Given the description of an element on the screen output the (x, y) to click on. 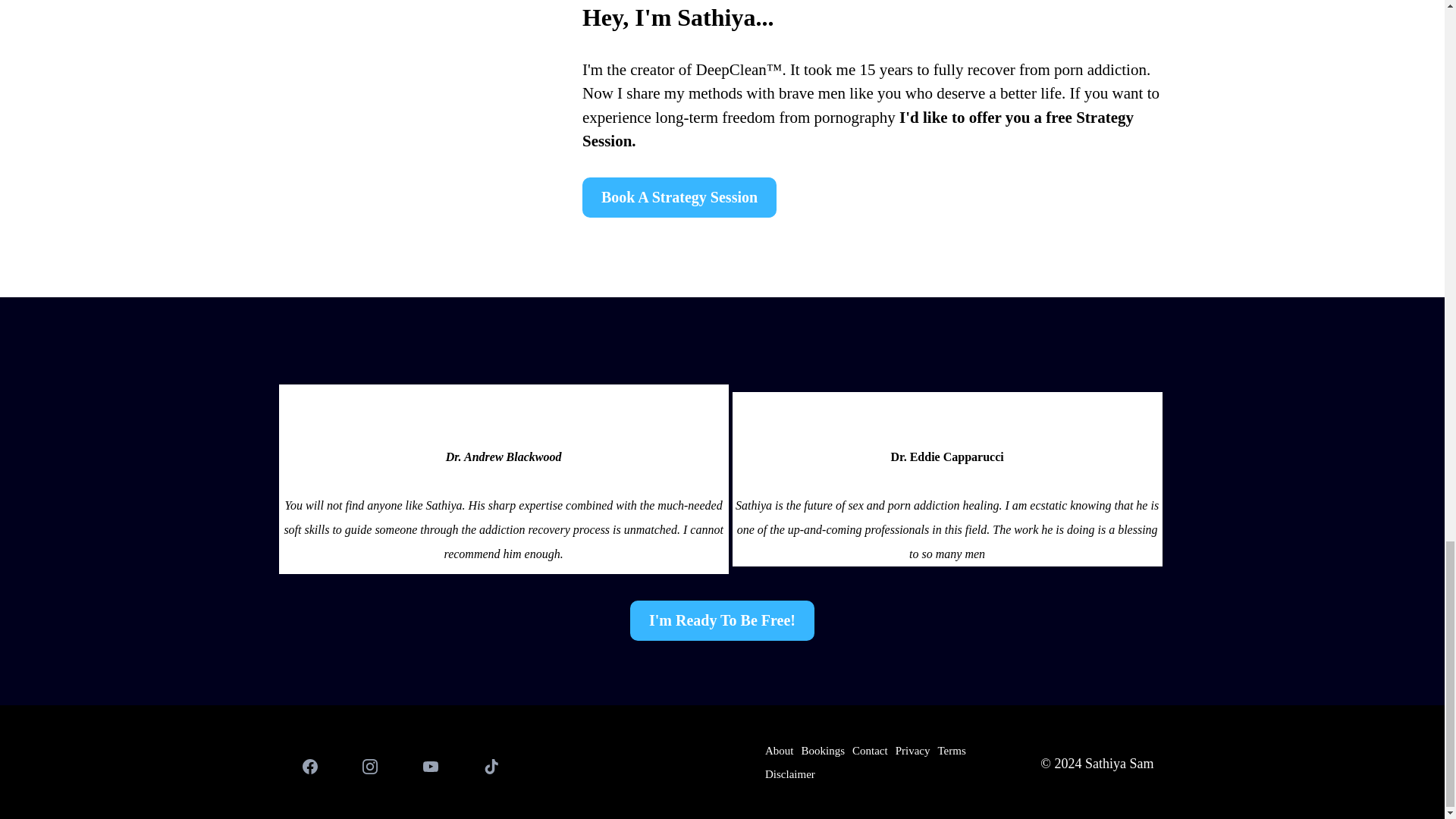
Book A Strategy Session (679, 197)
Disclaimer (789, 774)
I'm Ready To Be Free! (721, 620)
Contact (869, 750)
About (779, 750)
Terms (951, 750)
Privacy (912, 750)
Bookings (822, 750)
